Given the description of an element on the screen output the (x, y) to click on. 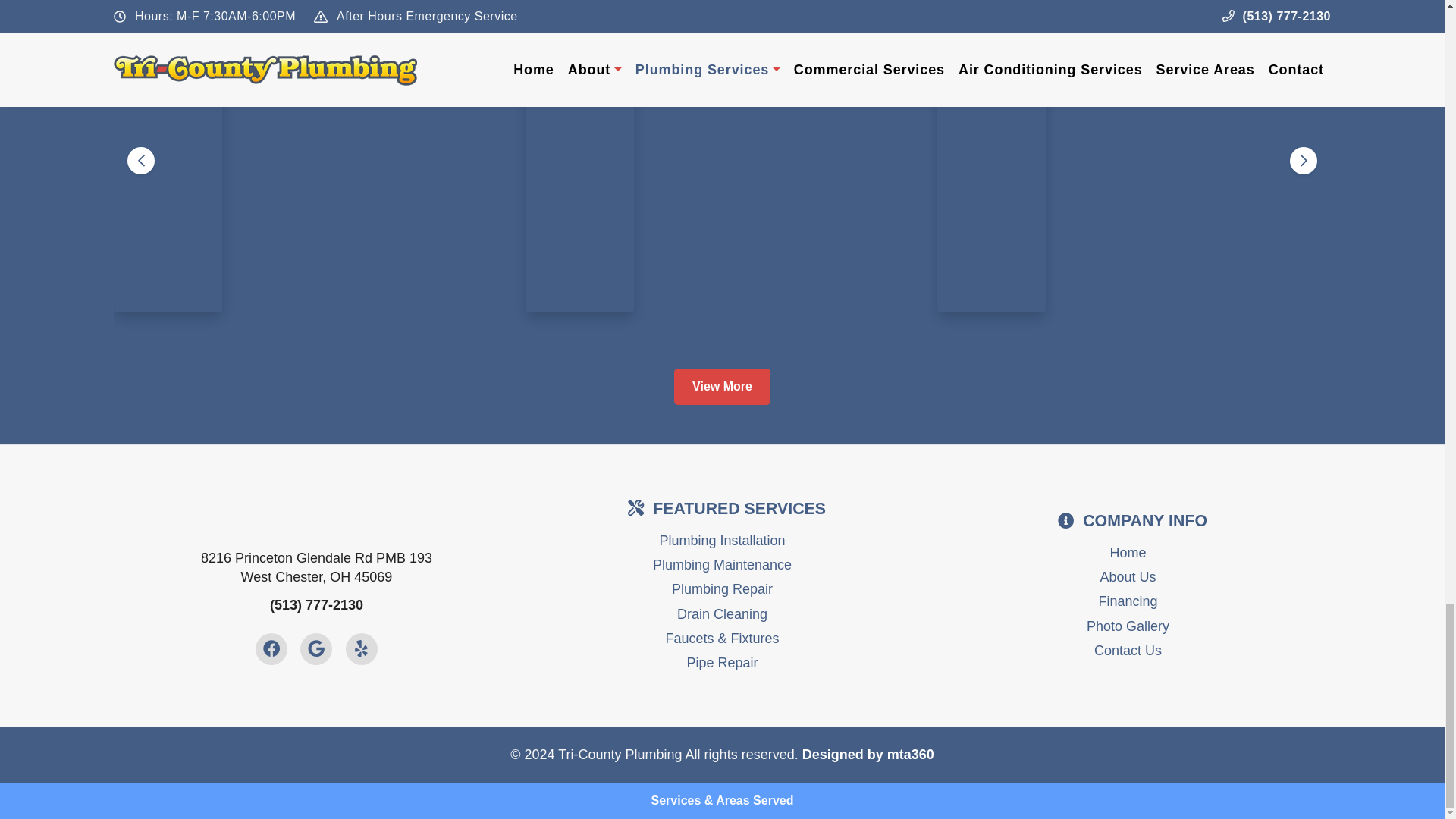
Website Designed by mta360 (868, 754)
